Given the description of an element on the screen output the (x, y) to click on. 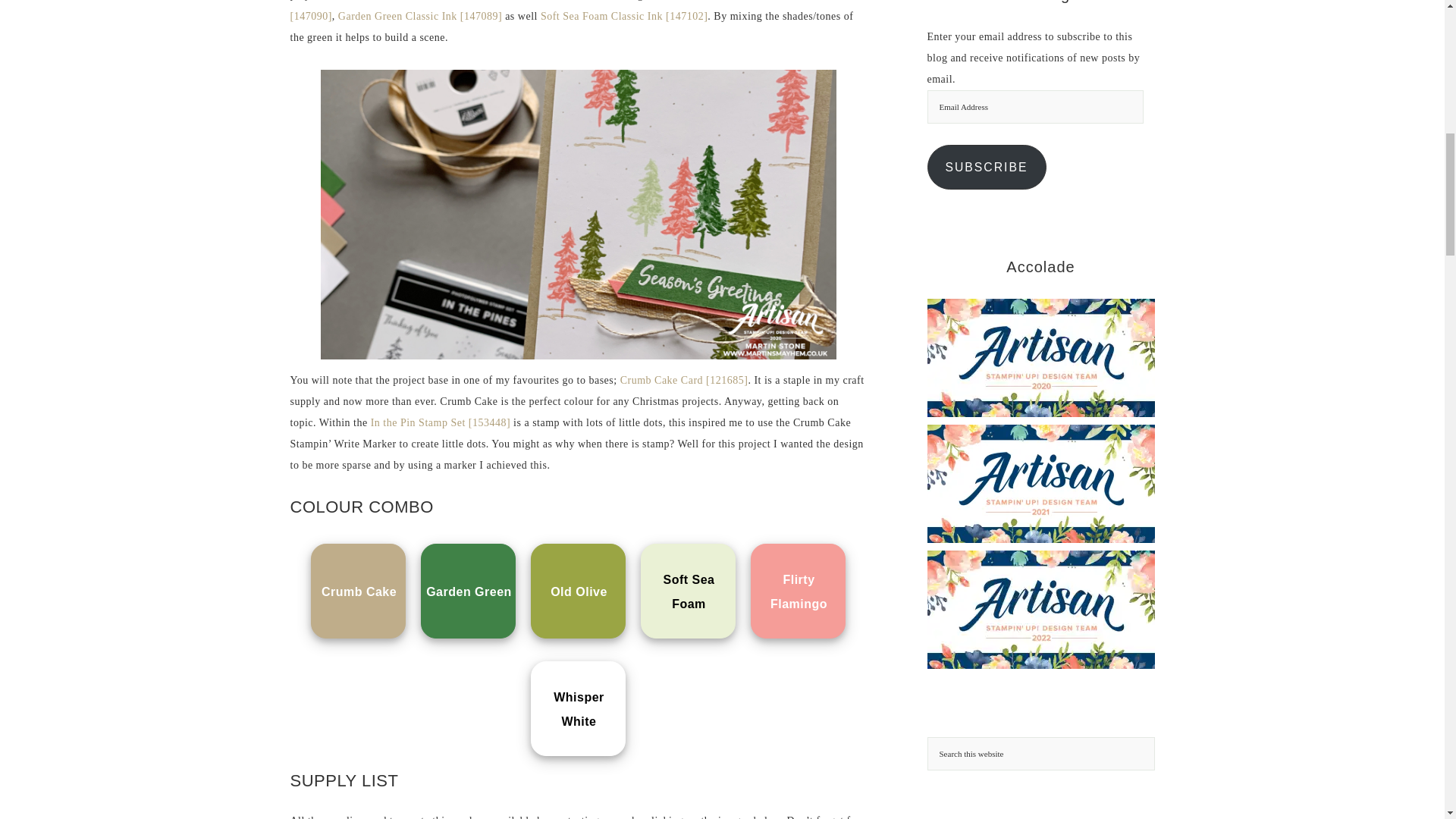
Whisper White (578, 709)
Flirty Flamingo (798, 591)
Old Olive (578, 591)
Soft Sea Foam (688, 591)
Crumb Cake (358, 591)
Garden Green (469, 591)
